Given the description of an element on the screen output the (x, y) to click on. 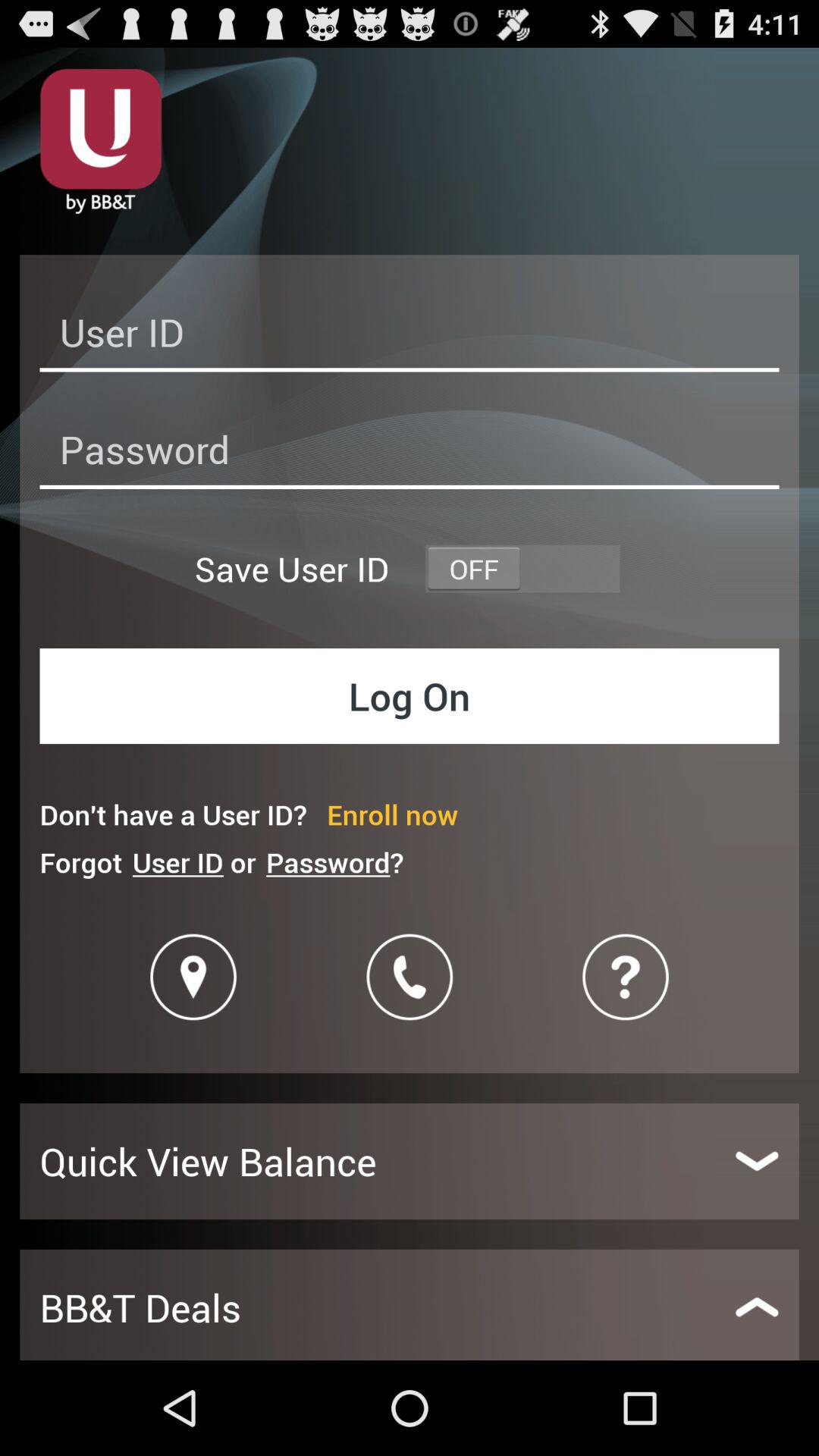
swipe to the password? icon (334, 861)
